Given the description of an element on the screen output the (x, y) to click on. 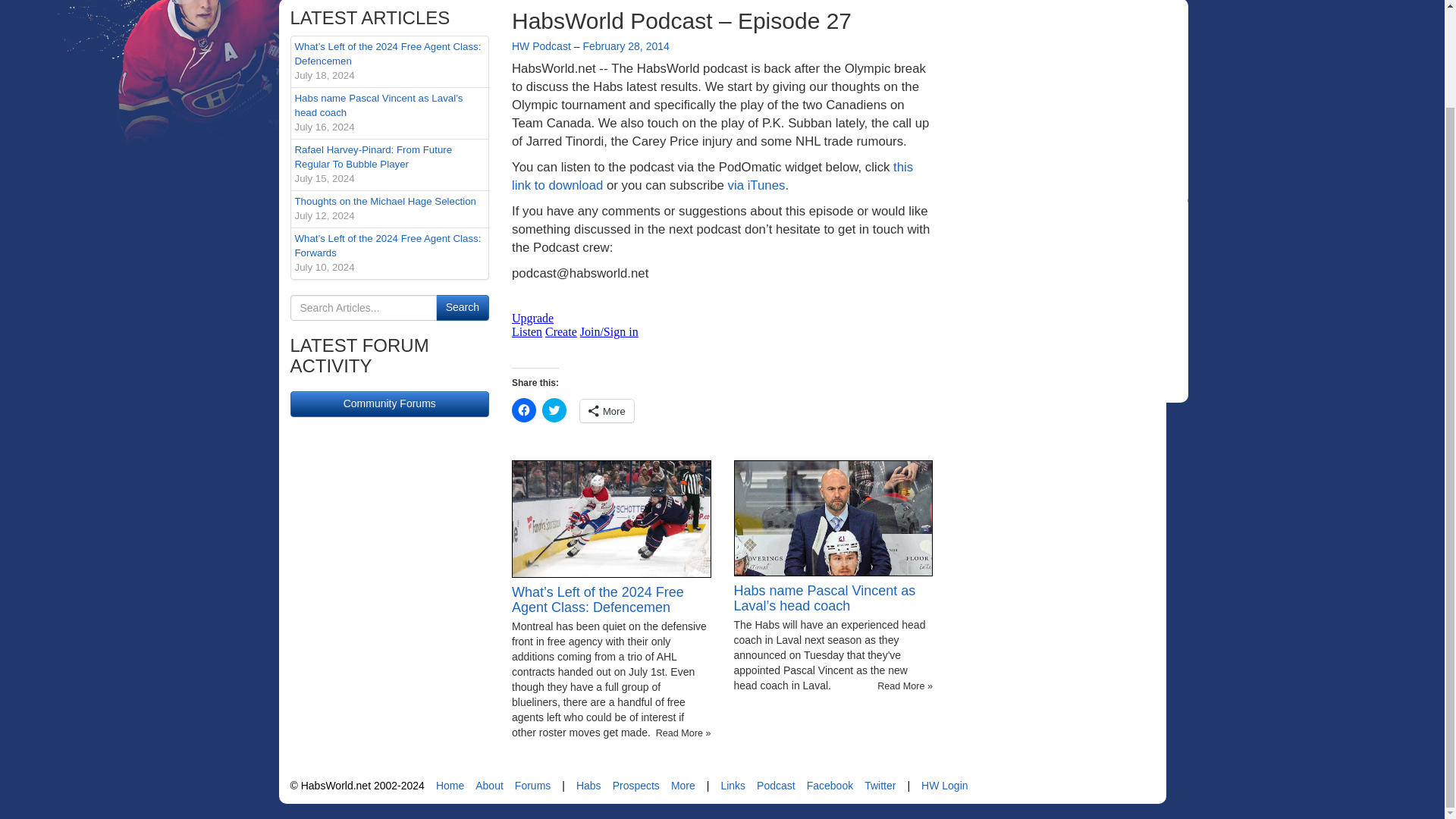
Search (462, 307)
Advertisement (1068, 103)
Twitter (879, 785)
More (683, 785)
February 28, 2014 (625, 46)
Podcast (775, 785)
Search (462, 307)
Home (449, 785)
Forums (532, 785)
More (606, 410)
Links (732, 785)
Click to share on Facebook (523, 410)
About (489, 785)
Advertisement (1068, 299)
